Given the description of an element on the screen output the (x, y) to click on. 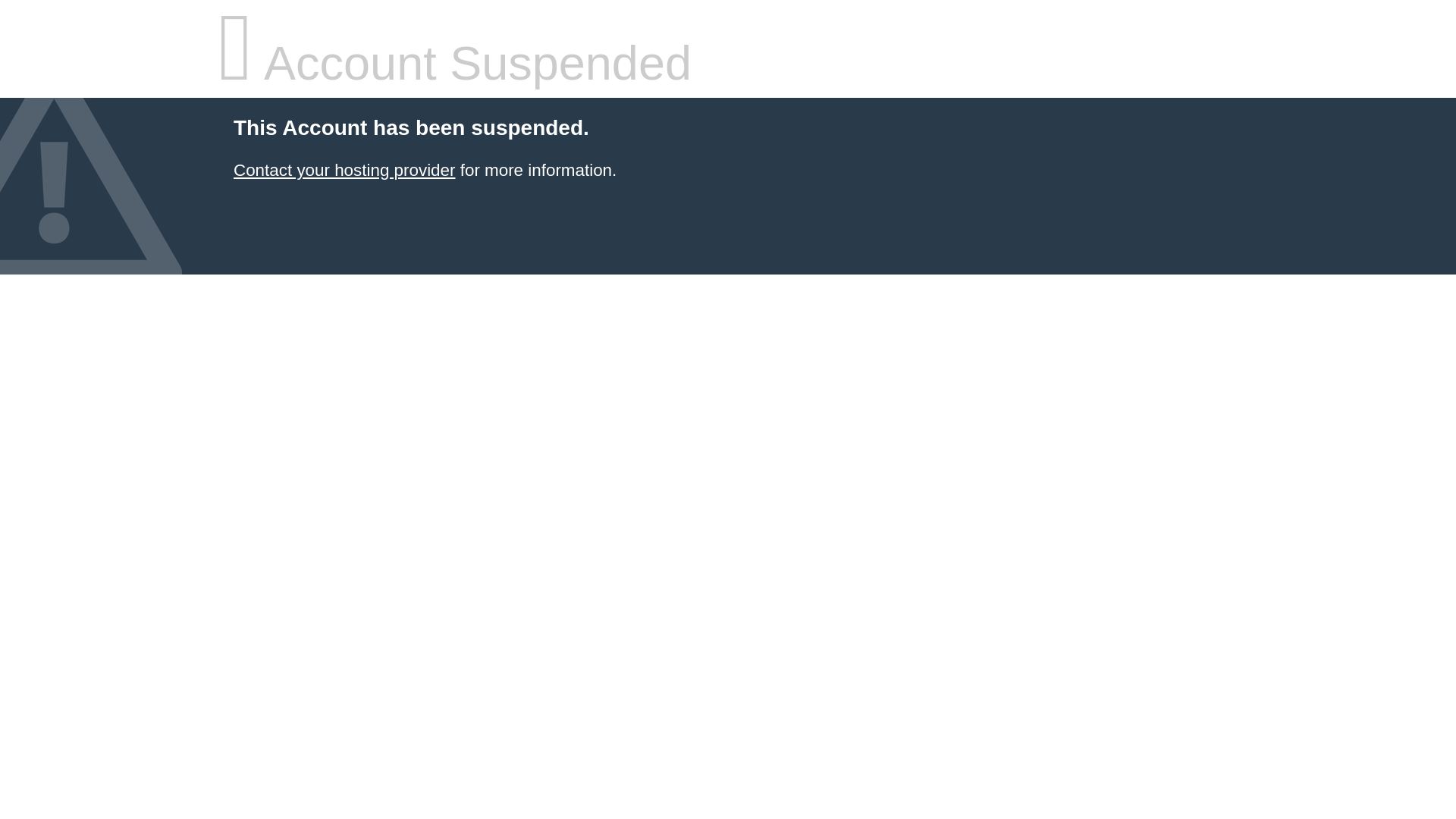
Contact your hosting provider (343, 169)
